Given the description of an element on the screen output the (x, y) to click on. 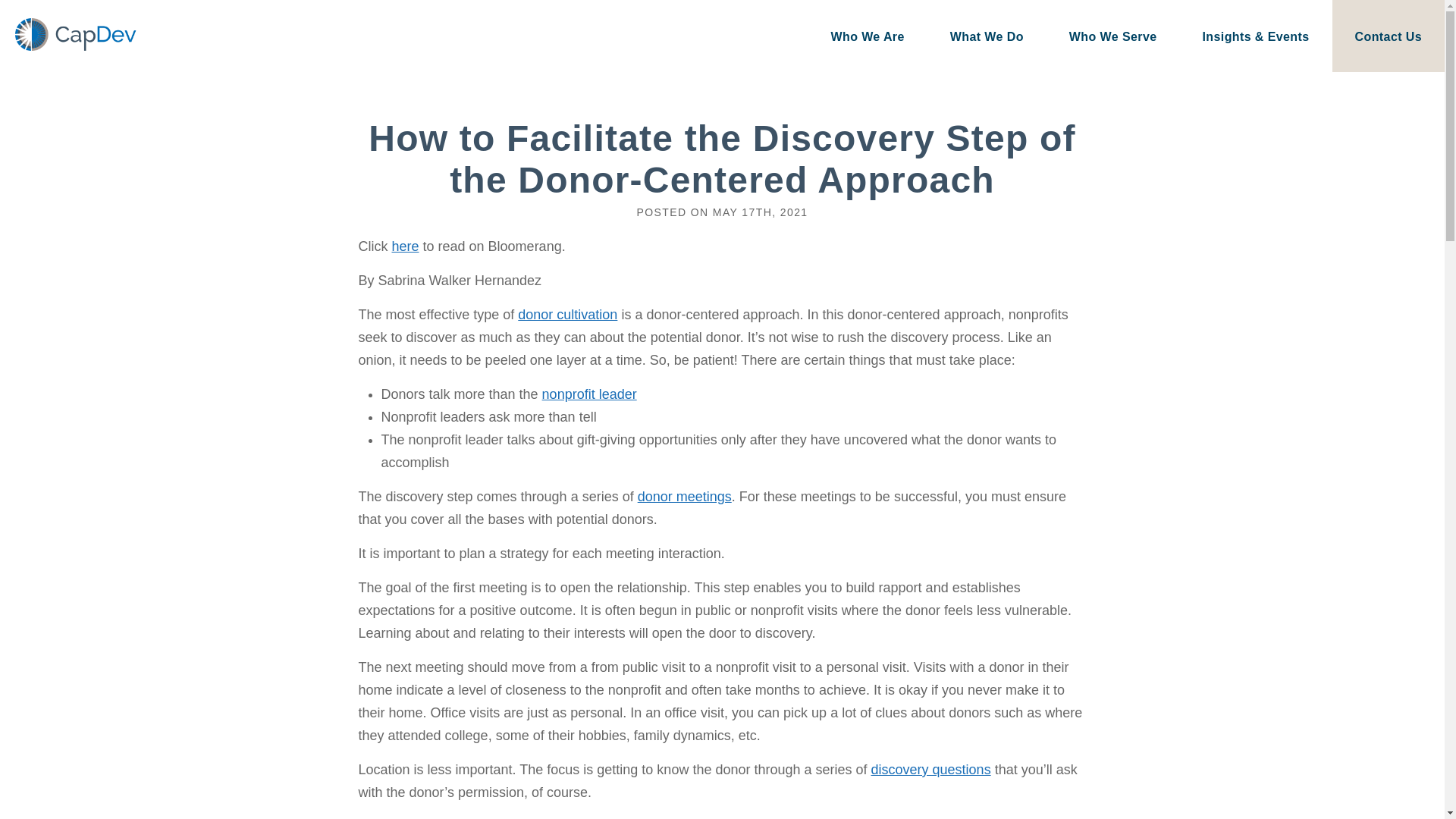
What We Do (986, 36)
donor meetings (684, 496)
Who We Serve (1112, 36)
here (405, 246)
Who We Are (867, 36)
nonprofit leader (589, 394)
donor cultivation (567, 314)
discovery questions (930, 769)
